Given the description of an element on the screen output the (x, y) to click on. 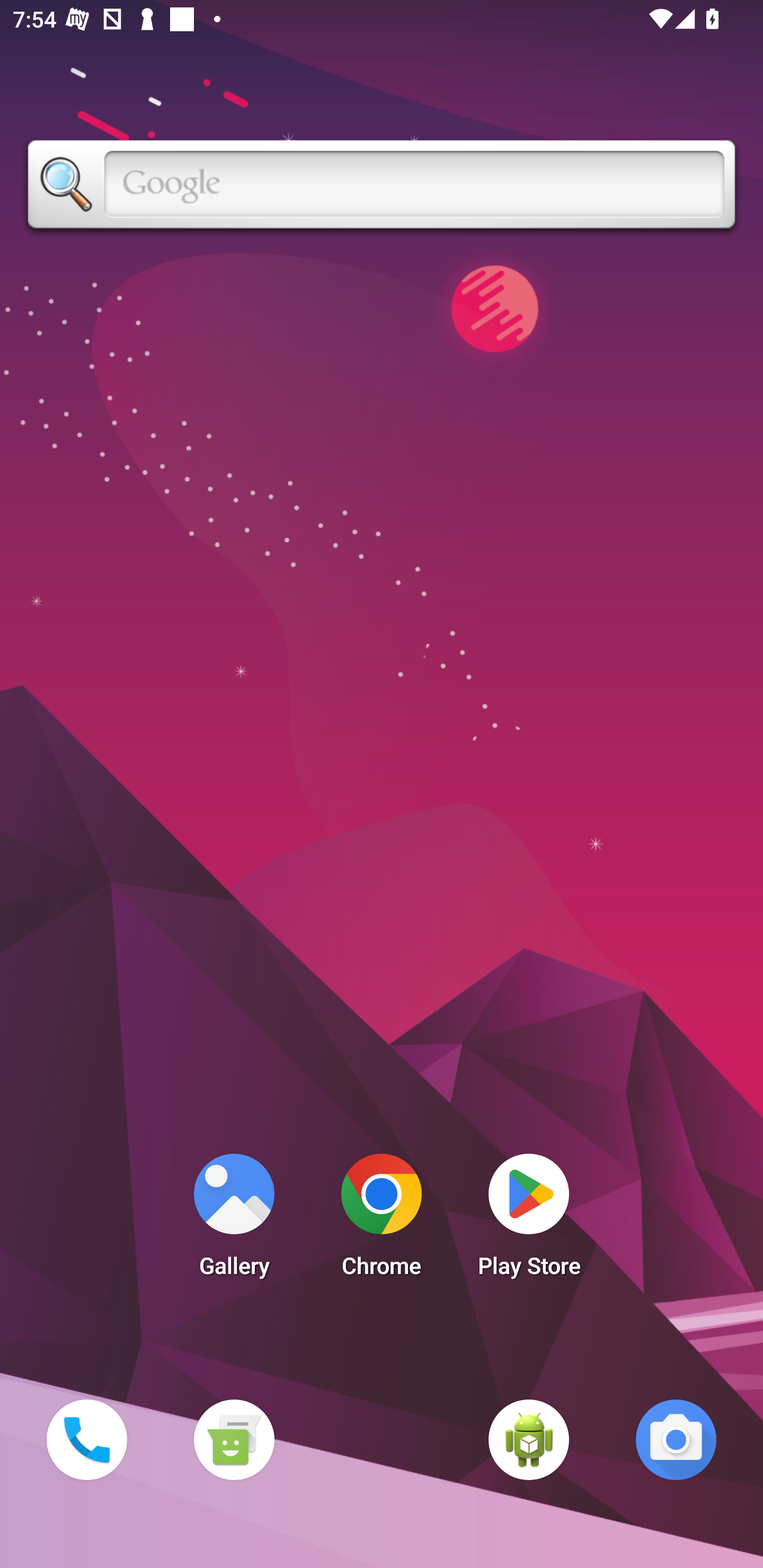
Gallery (233, 1220)
Chrome (381, 1220)
Play Store (528, 1220)
Phone (86, 1439)
Messaging (233, 1439)
WebView Browser Tester (528, 1439)
Camera (676, 1439)
